Given the description of an element on the screen output the (x, y) to click on. 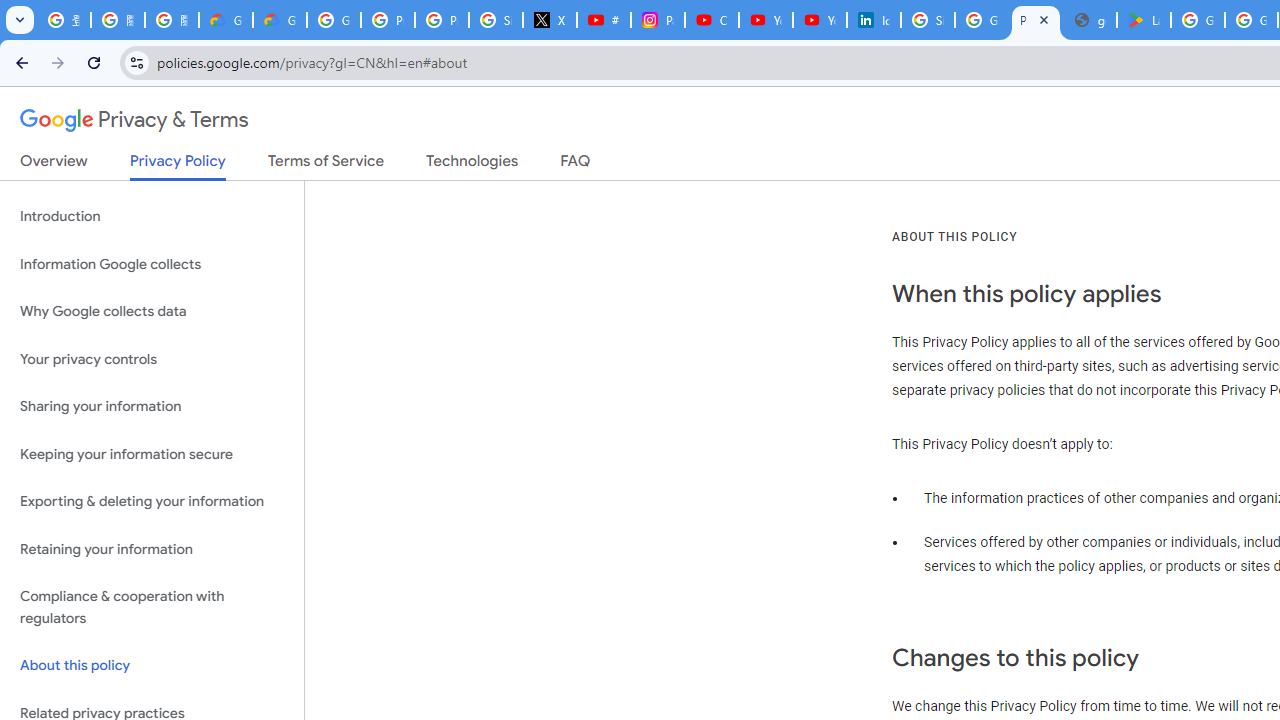
FAQ (575, 165)
About this policy (152, 666)
X (550, 20)
google_privacy_policy_en.pdf (1089, 20)
Privacy & Terms (134, 120)
Exporting & deleting your information (152, 502)
Technologies (472, 165)
Sign in - Google Accounts (495, 20)
Your privacy controls (152, 358)
